Given the description of an element on the screen output the (x, y) to click on. 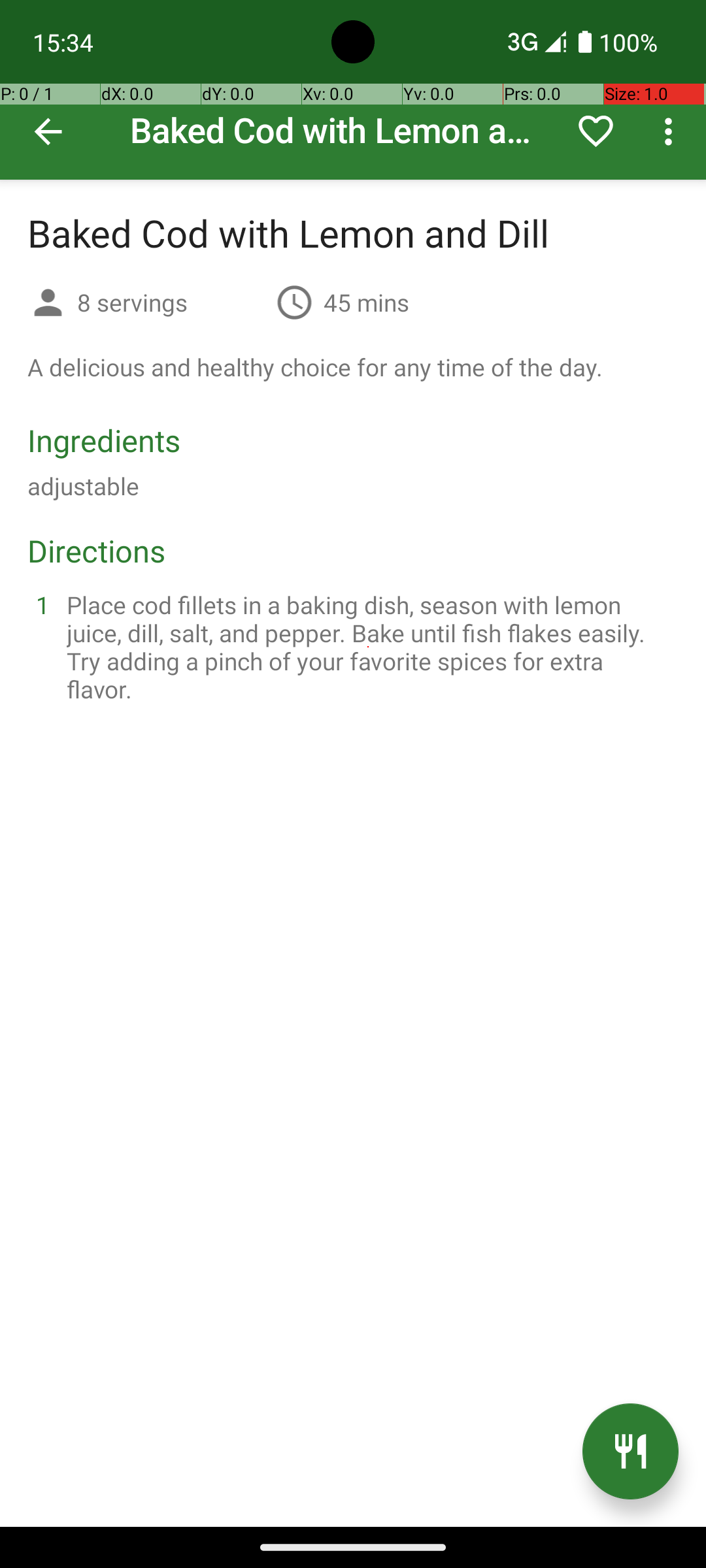
45 mins Element type: android.widget.TextView (366, 301)
adjustable Element type: android.widget.TextView (83, 485)
Place cod fillets in a baking dish, season with lemon juice, dill, salt, and pepper. Bake until fish flakes easily. Try adding a pinch of your favorite spices for extra flavor. Element type: android.widget.TextView (368, 646)
